Given the description of an element on the screen output the (x, y) to click on. 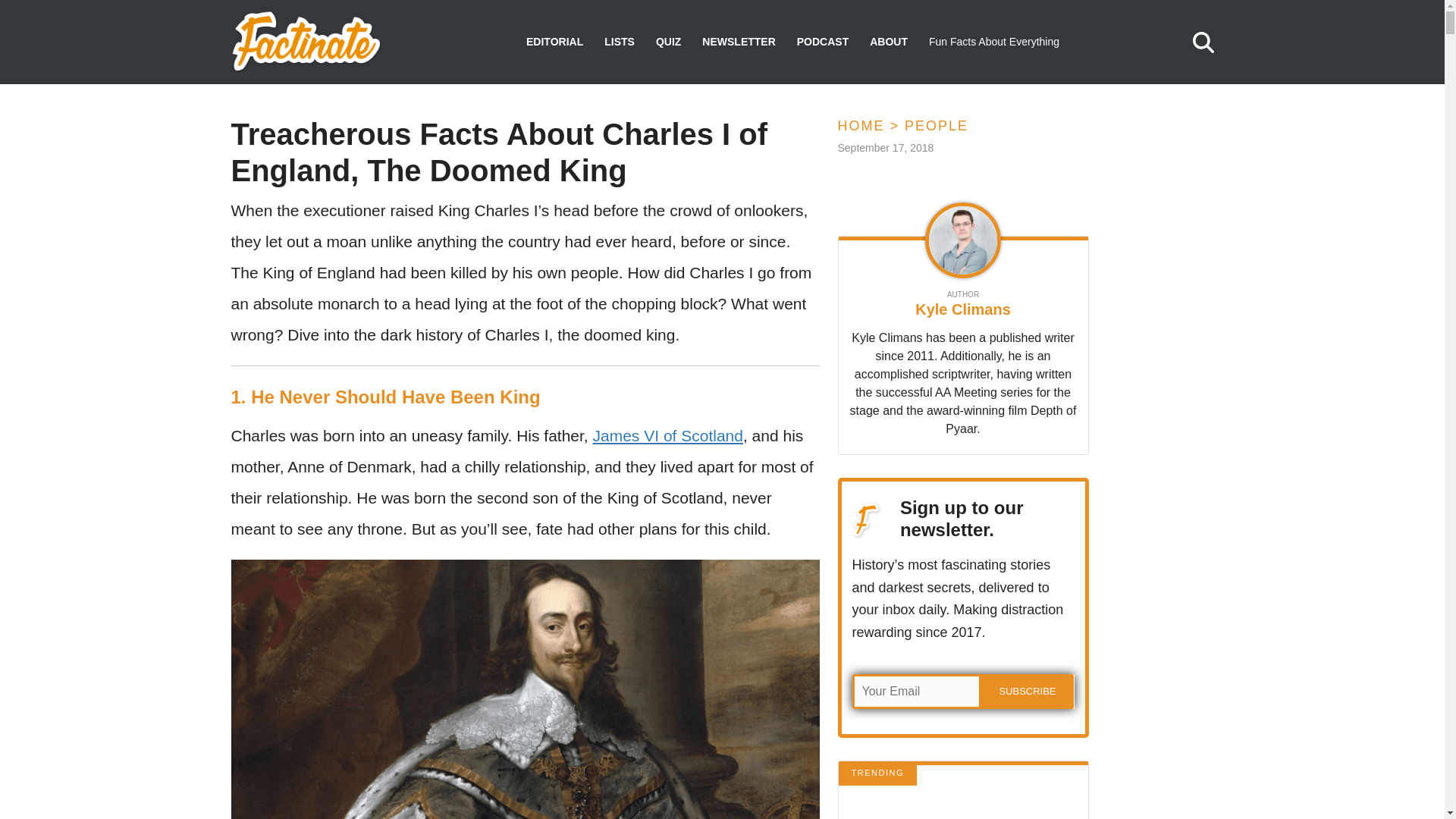
ABOUT (888, 41)
PODCAST (822, 41)
EDITORIAL (554, 41)
QUIZ (668, 41)
James VI of Scotland (667, 435)
LISTS (619, 41)
NEWSLETTER (737, 41)
